Given the description of an element on the screen output the (x, y) to click on. 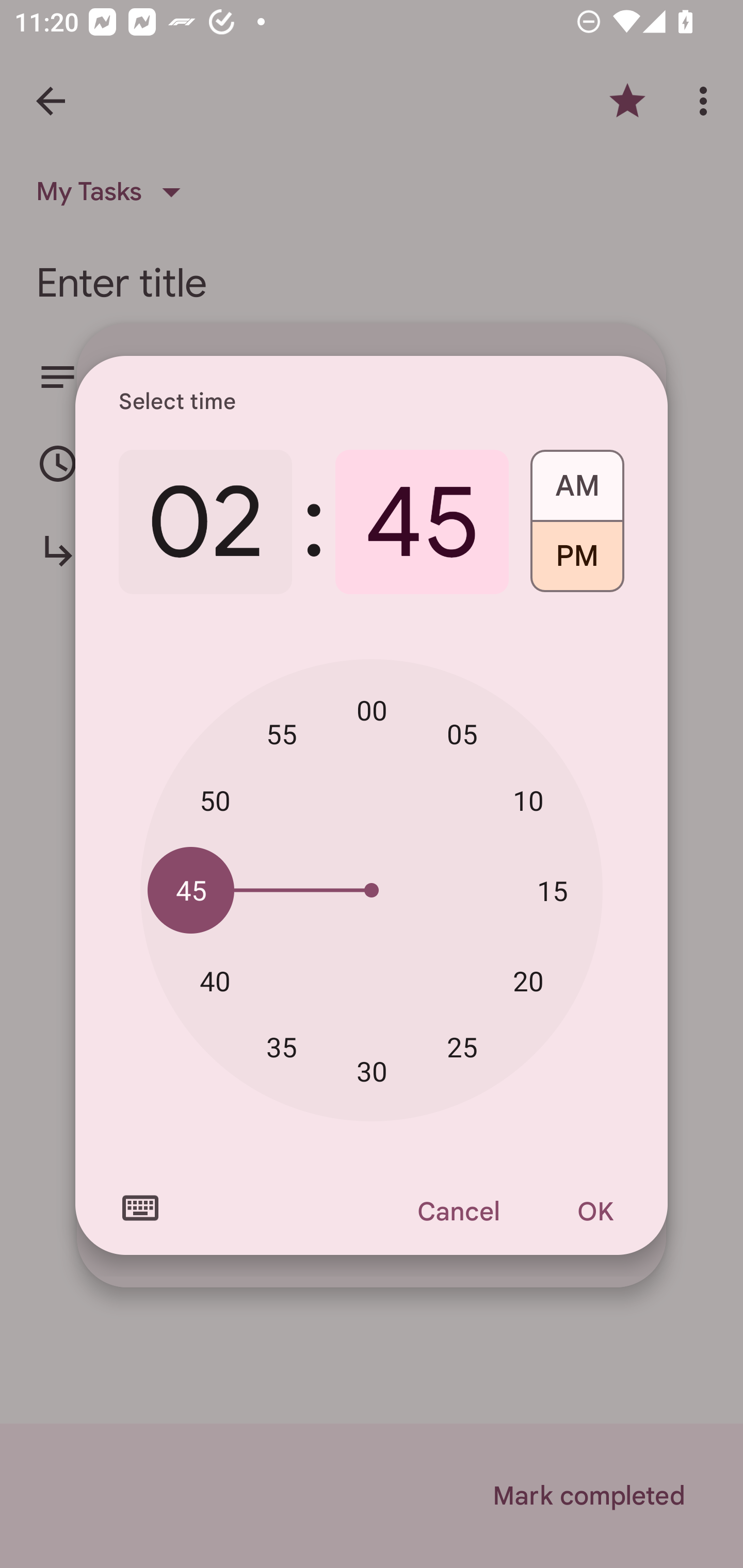
AM (577, 478)
02 2 o'clock (204, 522)
45 45 minutes (421, 522)
PM (577, 563)
00 00 minutes (371, 710)
55 55 minutes (281, 733)
05 05 minutes (462, 733)
50 50 minutes (214, 800)
10 10 minutes (528, 800)
45 45 minutes (190, 889)
15 15 minutes (551, 890)
40 40 minutes (214, 980)
20 20 minutes (528, 980)
35 35 minutes (281, 1046)
25 25 minutes (462, 1046)
30 30 minutes (371, 1071)
Switch to text input mode for the time input. (140, 1208)
Cancel (458, 1211)
OK (595, 1211)
